Given the description of an element on the screen output the (x, y) to click on. 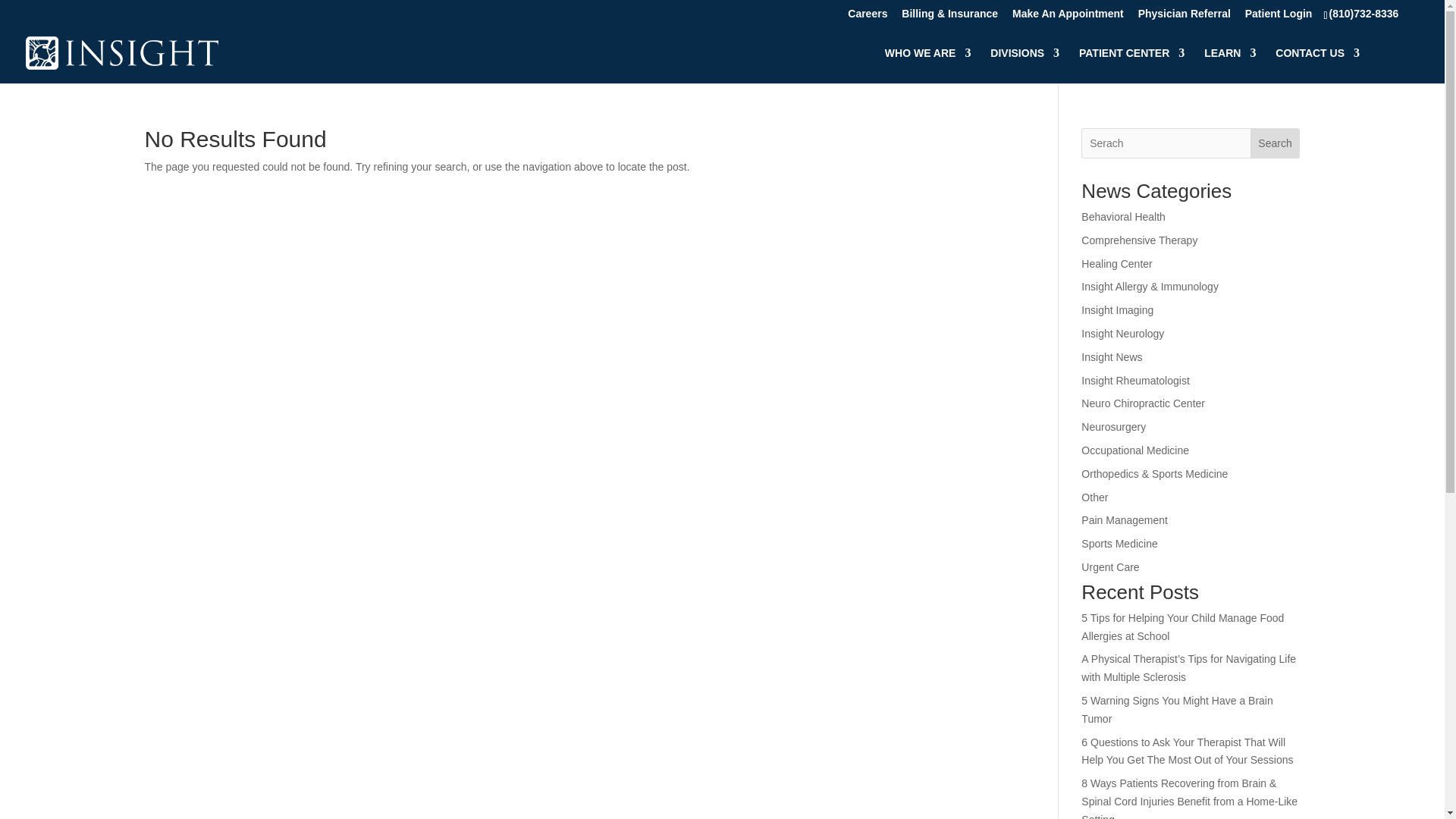
Patient Login (1278, 16)
Make An Appointment (1067, 16)
Careers (866, 16)
Physician Referral (1184, 16)
WHO WE ARE (928, 65)
DIVISIONS (1024, 65)
